Given the description of an element on the screen output the (x, y) to click on. 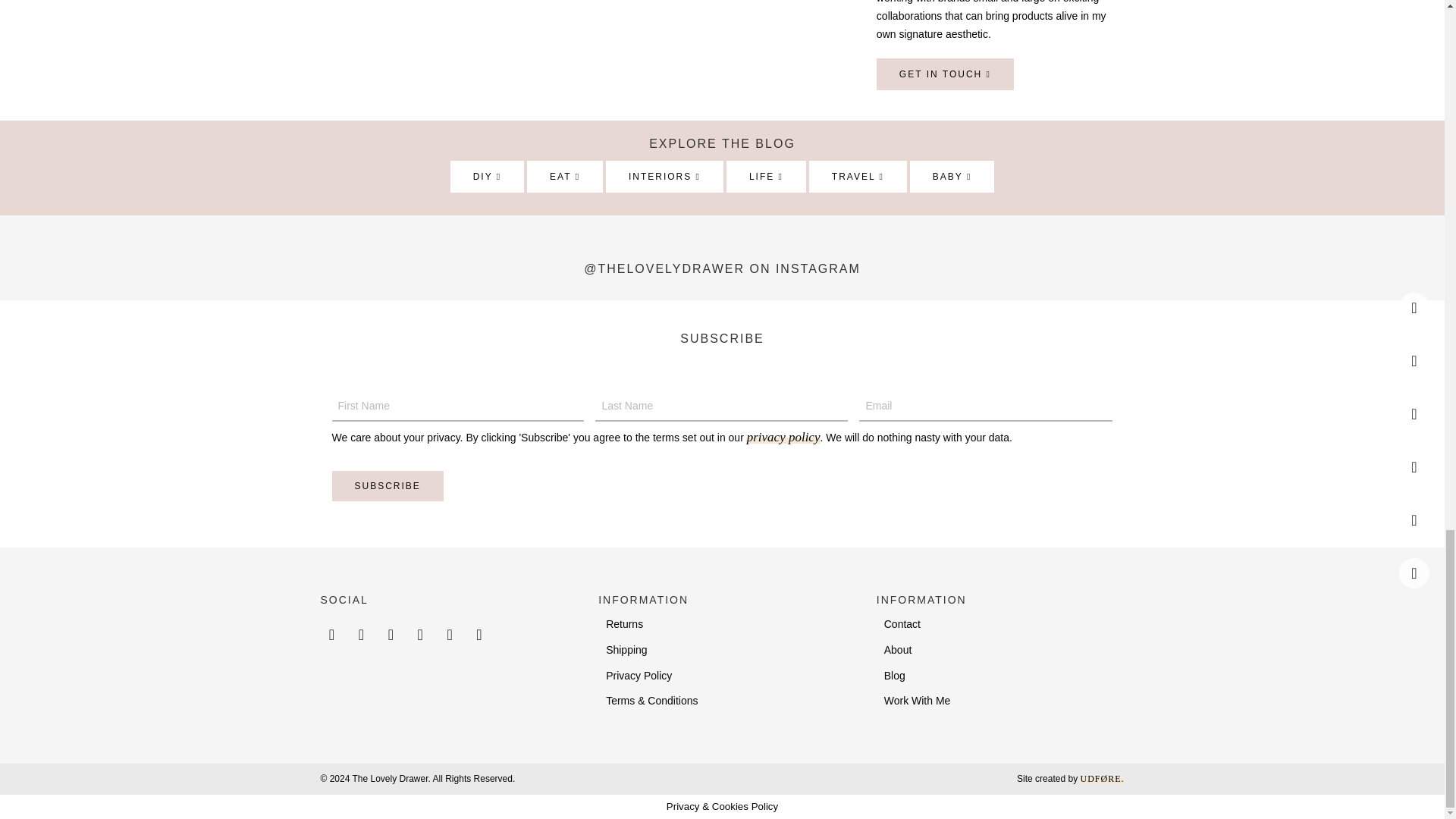
Subscribe (387, 485)
GET IN TOUCH (944, 74)
INTERIORS (664, 176)
LIFE (766, 176)
EAT (564, 176)
DIY (486, 176)
